Given the description of an element on the screen output the (x, y) to click on. 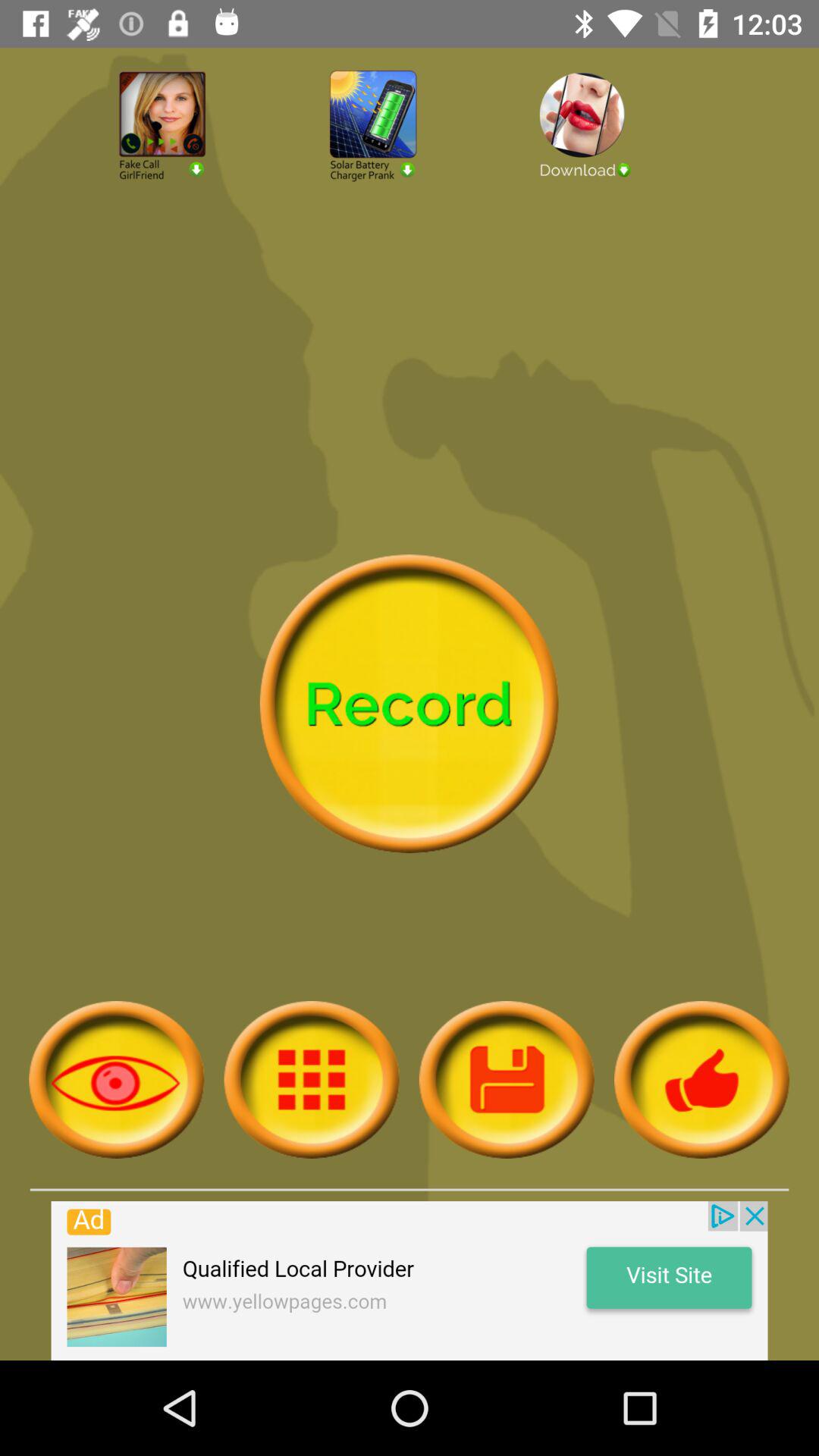
view more (506, 1079)
